Given the description of an element on the screen output the (x, y) to click on. 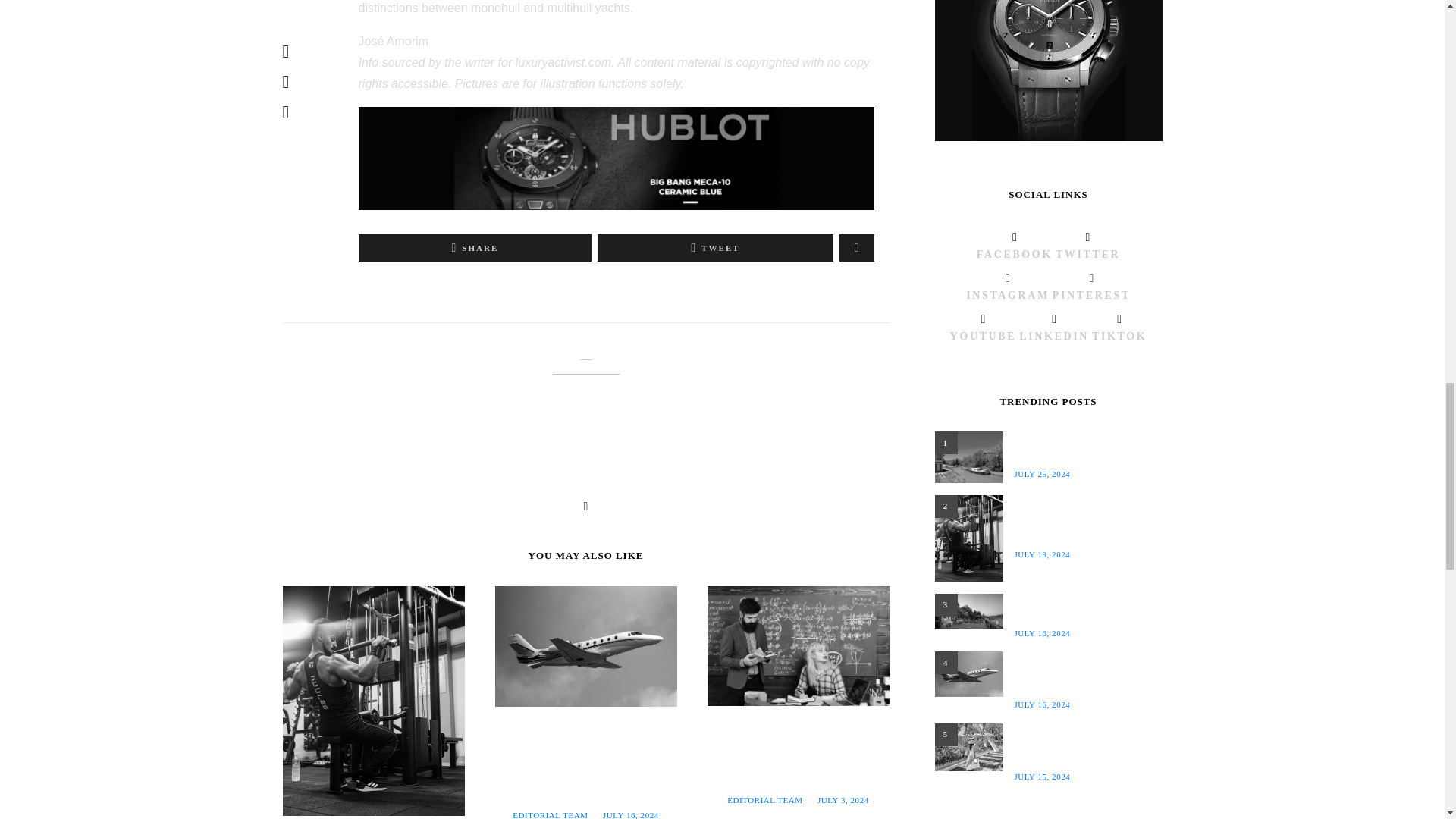
View all posts by Editorial Team (550, 814)
